Given the description of an element on the screen output the (x, y) to click on. 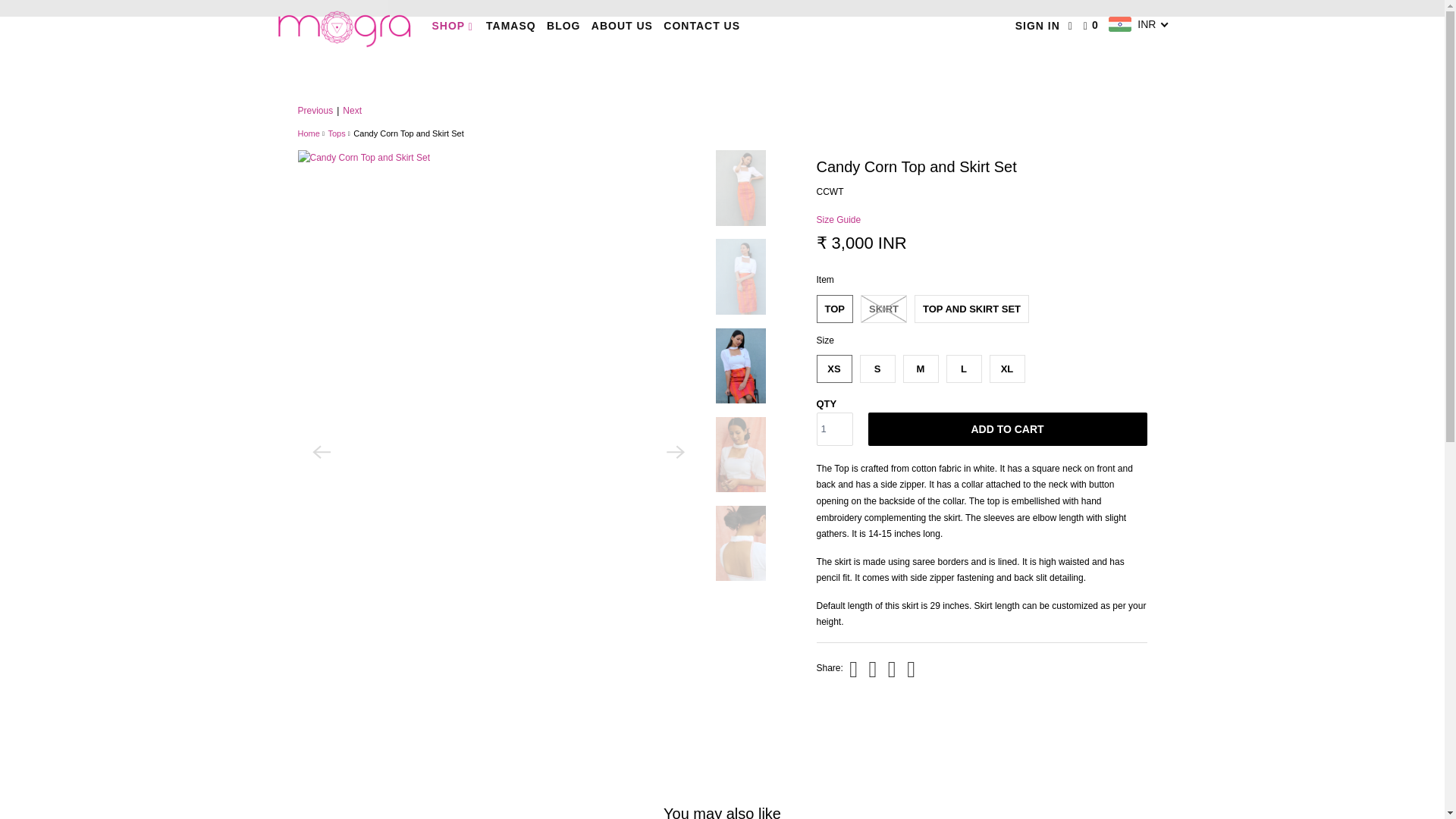
Search (1071, 26)
Previous (315, 111)
Mogra Designs (307, 133)
Mogra Designs (342, 26)
Next (351, 111)
Share this on Pinterest (889, 668)
Tops (336, 133)
Share this on Facebook (870, 668)
Share this on Twitter (851, 668)
Email this to a friend (908, 668)
My Account  (1036, 25)
1 (833, 428)
